Given the description of an element on the screen output the (x, y) to click on. 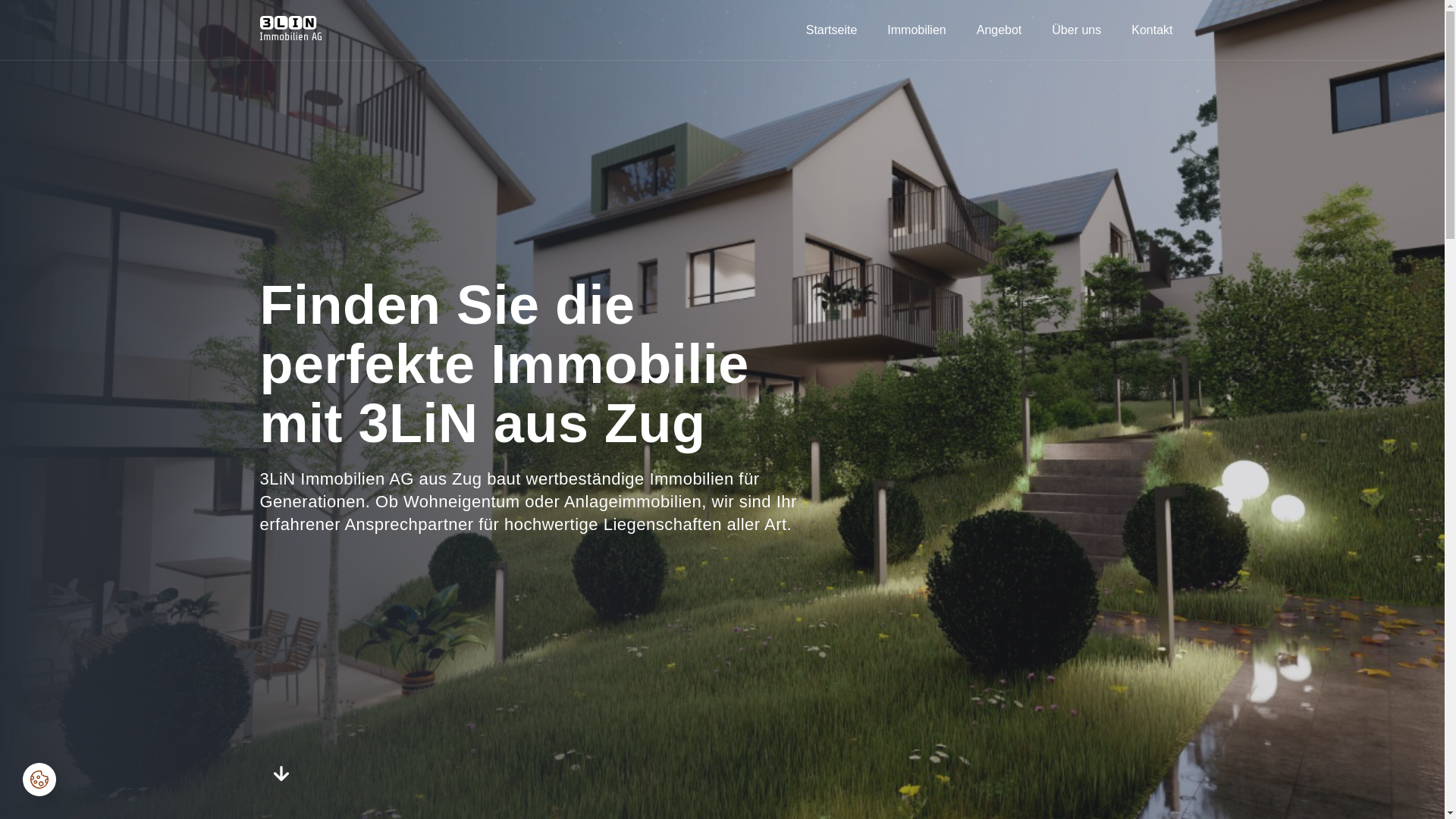
Startseite Element type: text (831, 29)
Kontakt Element type: text (1151, 29)
Immobilien Element type: text (916, 29)
Angebot Element type: text (999, 29)
